Given the description of an element on the screen output the (x, y) to click on. 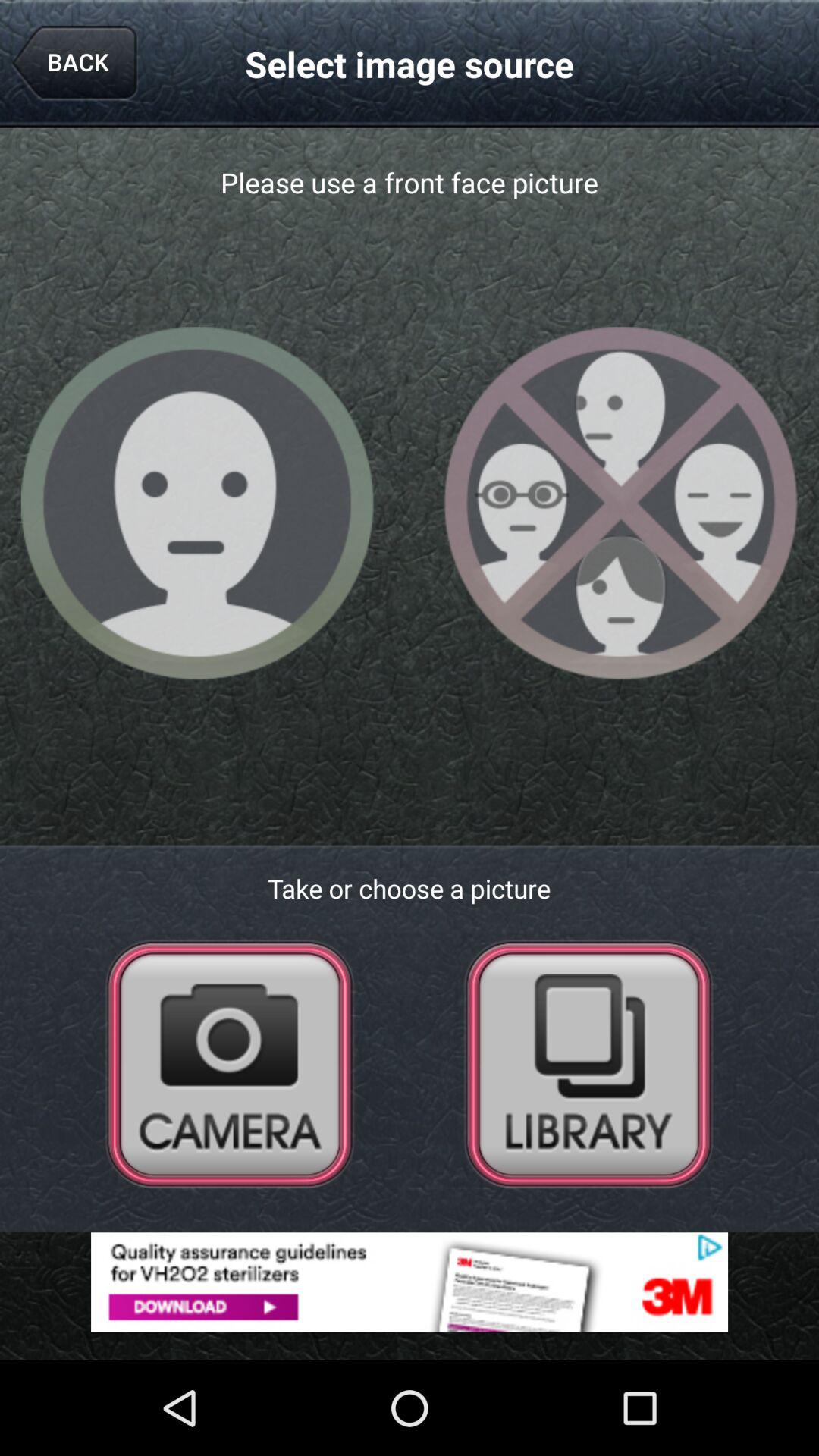
upload a pic (588, 1063)
